Given the description of an element on the screen output the (x, y) to click on. 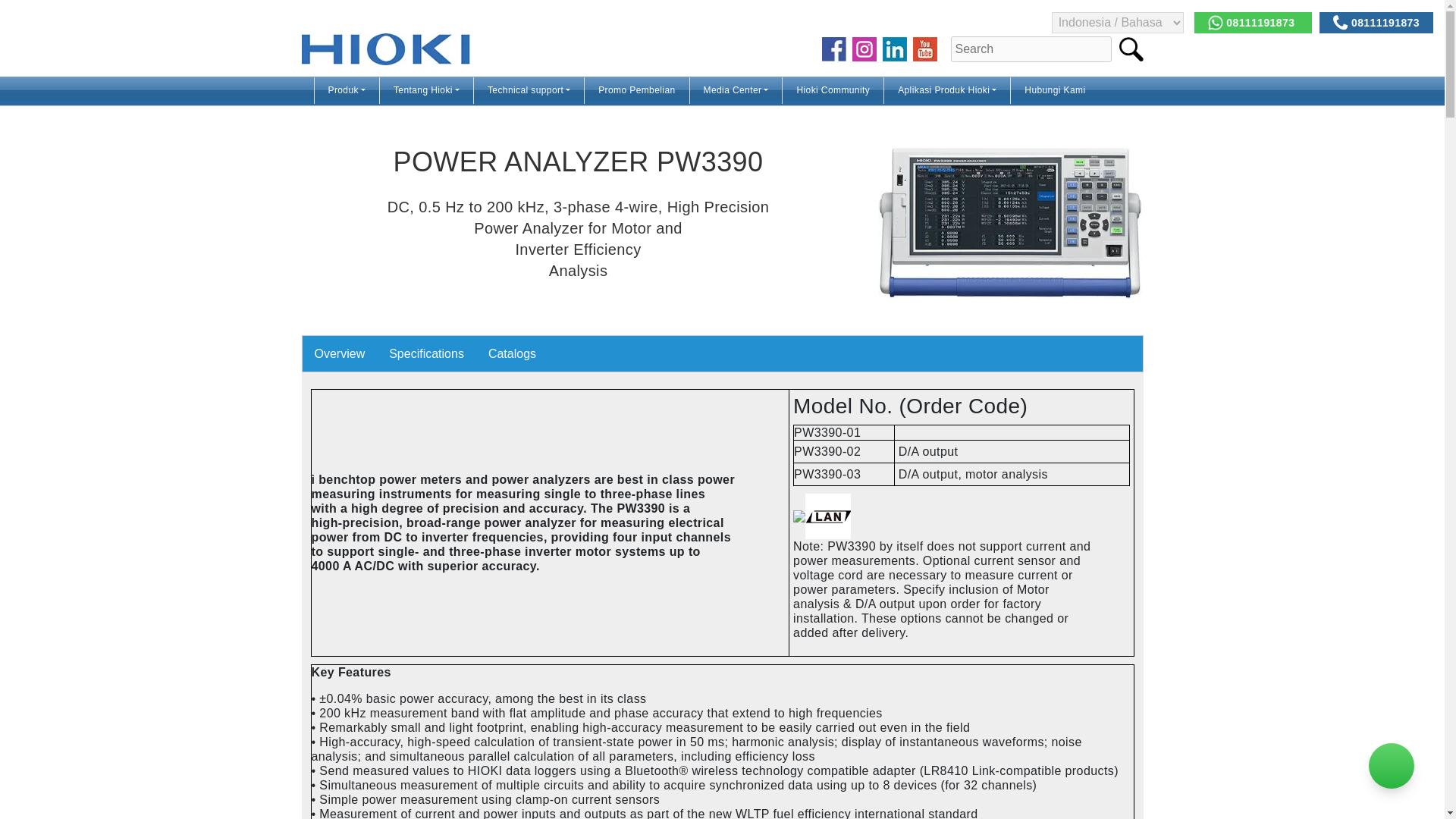
Media Center (735, 90)
Produk (346, 90)
Tentang Hioki (426, 90)
08111191873 (1376, 22)
Technical support (528, 90)
08111191873 (1253, 22)
Tentang Hioki (426, 90)
Promo Pembelian (636, 90)
Produk (346, 90)
